Given the description of an element on the screen output the (x, y) to click on. 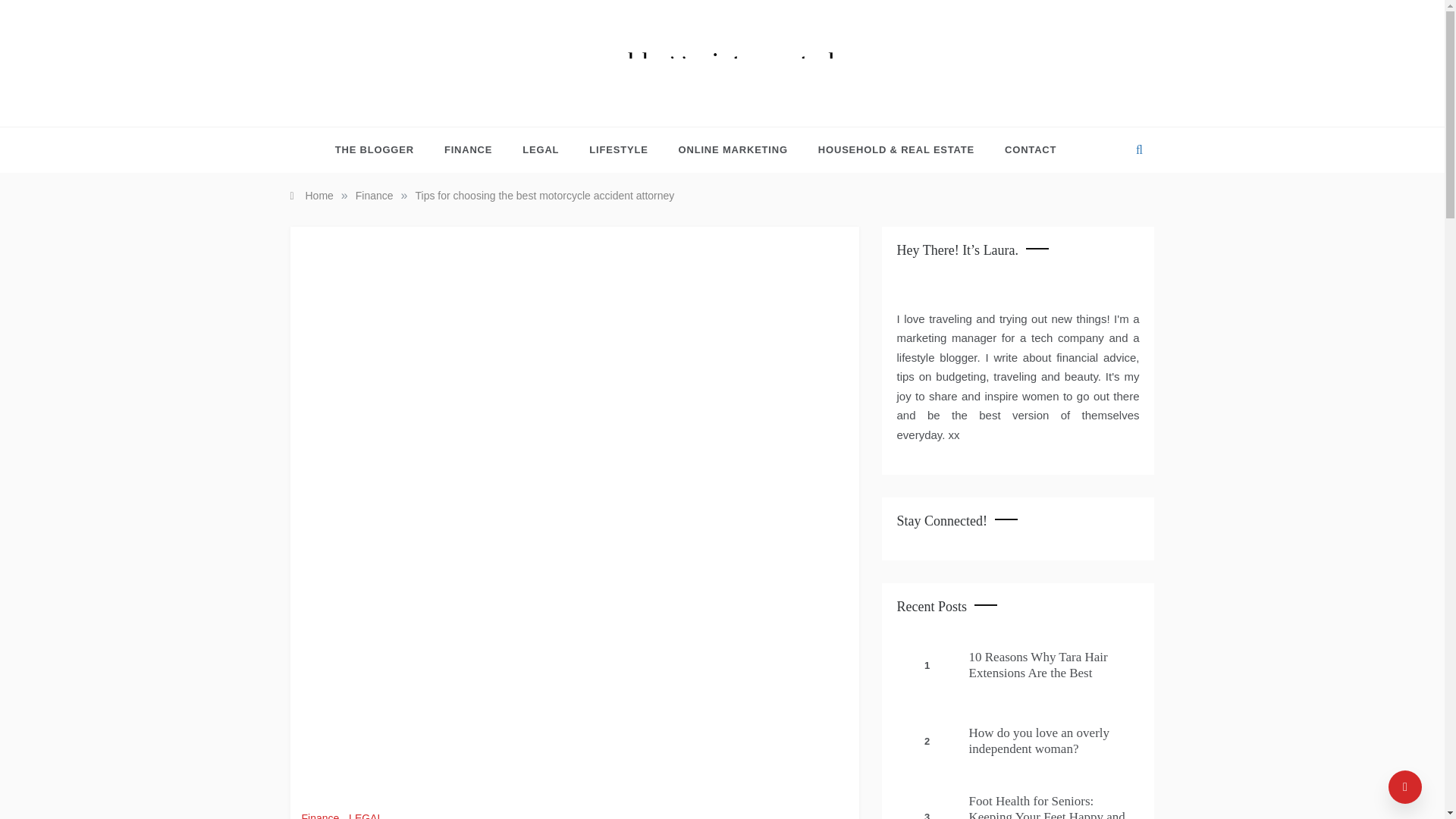
Finance (322, 815)
FINANCE (467, 149)
THE BLOGGER (381, 149)
LEGAL (539, 149)
LIFESTYLE (617, 149)
Home (311, 195)
CONTACT (1023, 149)
BLOGGER, INTERRUPTED (716, 102)
Go to Top (1405, 786)
Tips for choosing the best motorcycle accident attorney (544, 195)
LEGAL (368, 815)
ONLINE MARKETING (733, 149)
Finance (374, 195)
